Given the description of an element on the screen output the (x, y) to click on. 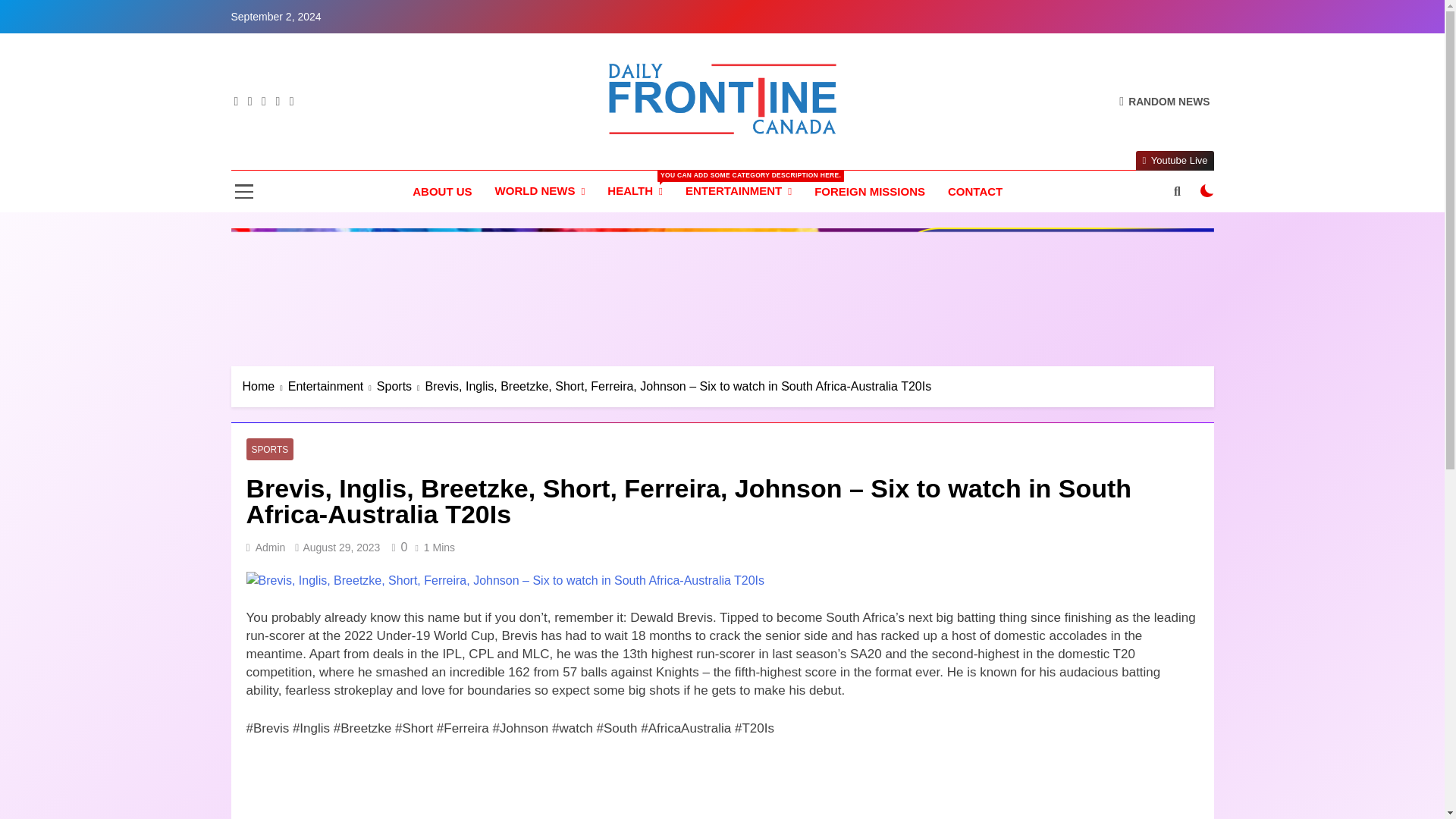
on (1206, 191)
RANDOM NEWS (1164, 101)
Daily Frontline (591, 156)
